Given the description of an element on the screen output the (x, y) to click on. 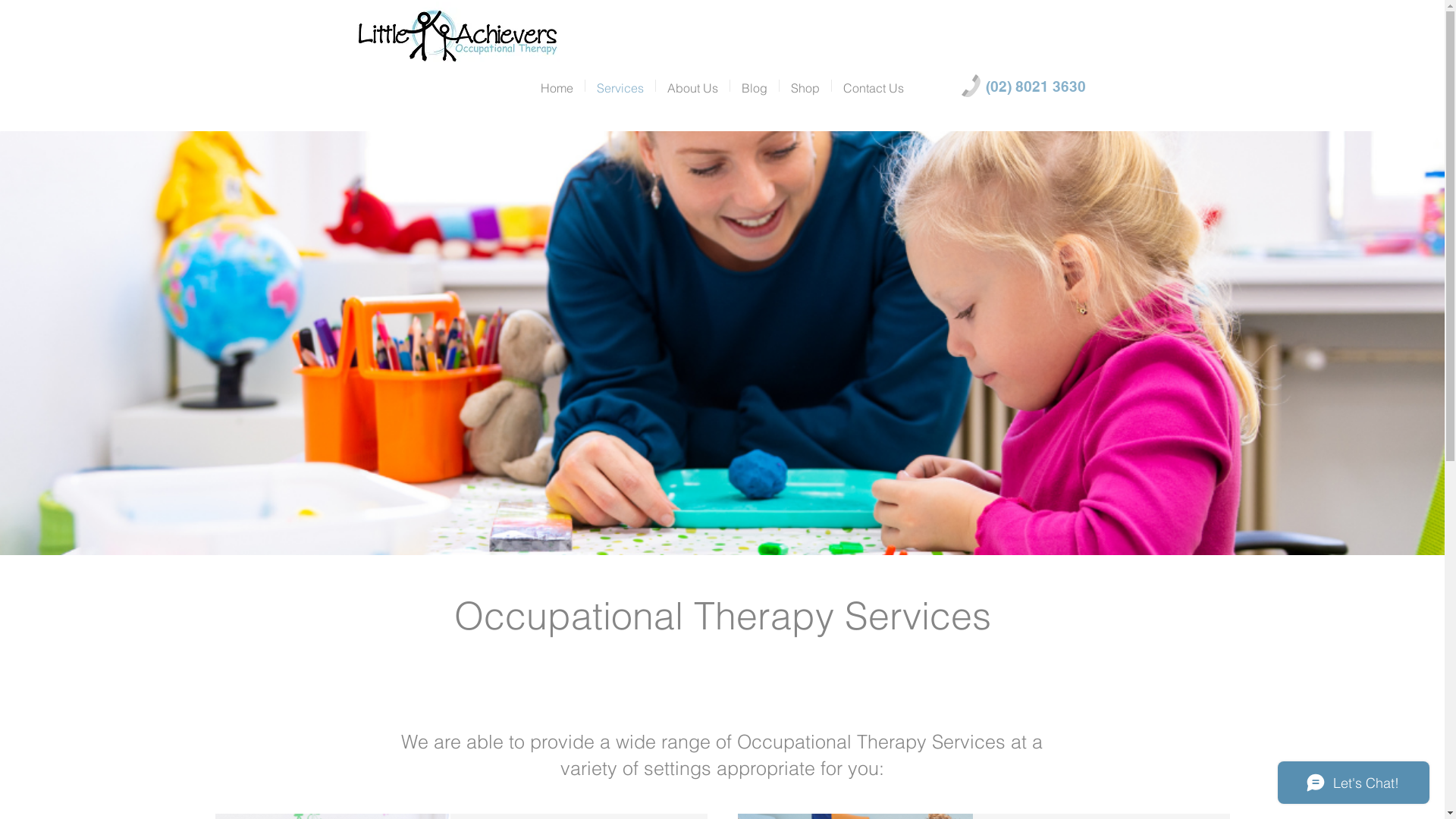
About Us Element type: text (691, 85)
Blog Element type: text (753, 85)
Services Element type: text (620, 85)
Home Element type: text (556, 85)
Shop Element type: text (805, 85)
Contact Us Element type: text (872, 85)
